Given the description of an element on the screen output the (x, y) to click on. 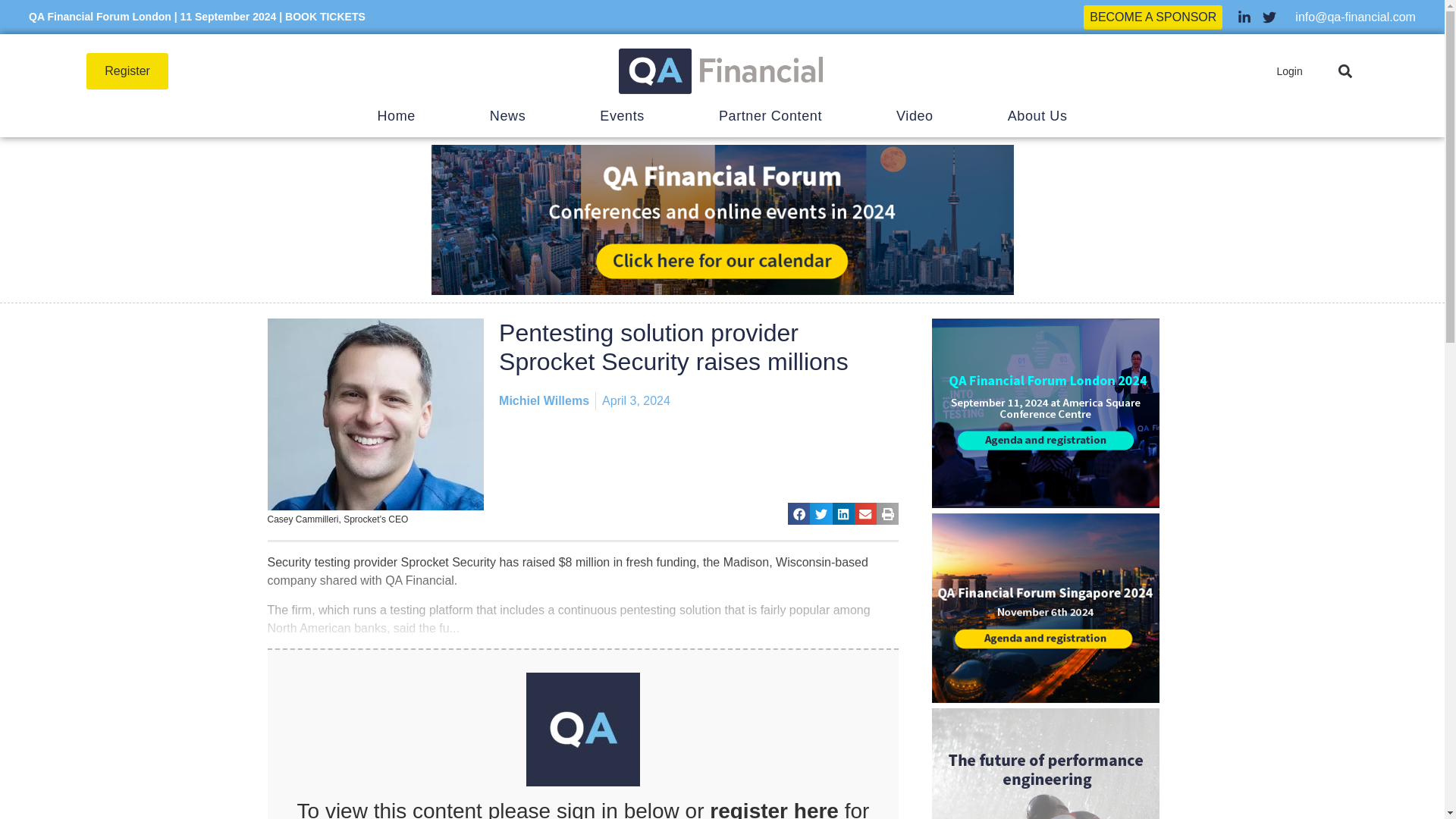
Video (914, 115)
Events (621, 115)
BECOME A SPONSOR (1153, 16)
News (507, 115)
About Us (1038, 115)
Login (1288, 71)
Home (395, 115)
Partner Content (770, 115)
Register (126, 71)
Casey1 (374, 414)
